Given the description of an element on the screen output the (x, y) to click on. 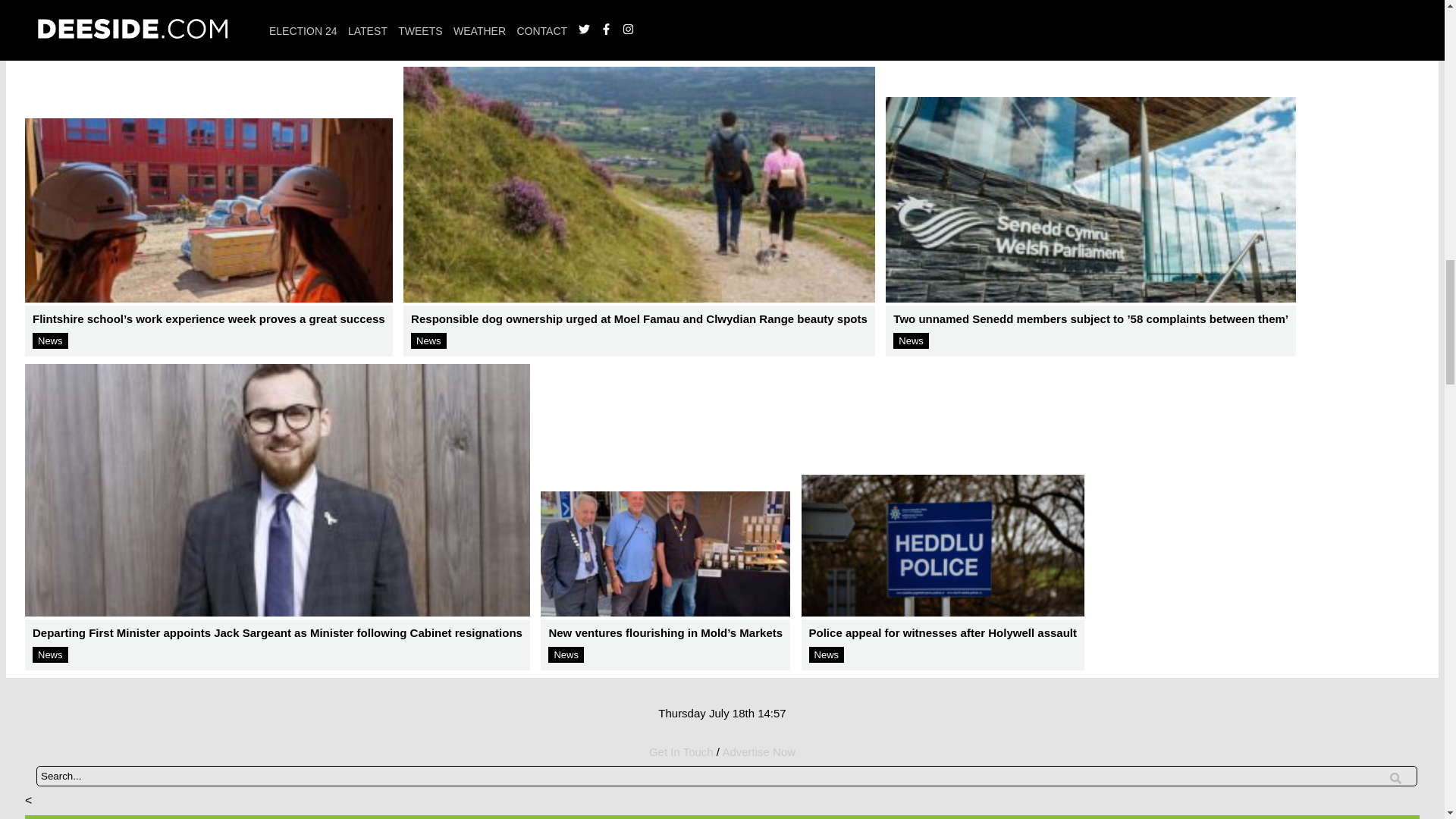
Get In Touch (681, 751)
Advertise Now (155, 29)
